Given the description of an element on the screen output the (x, y) to click on. 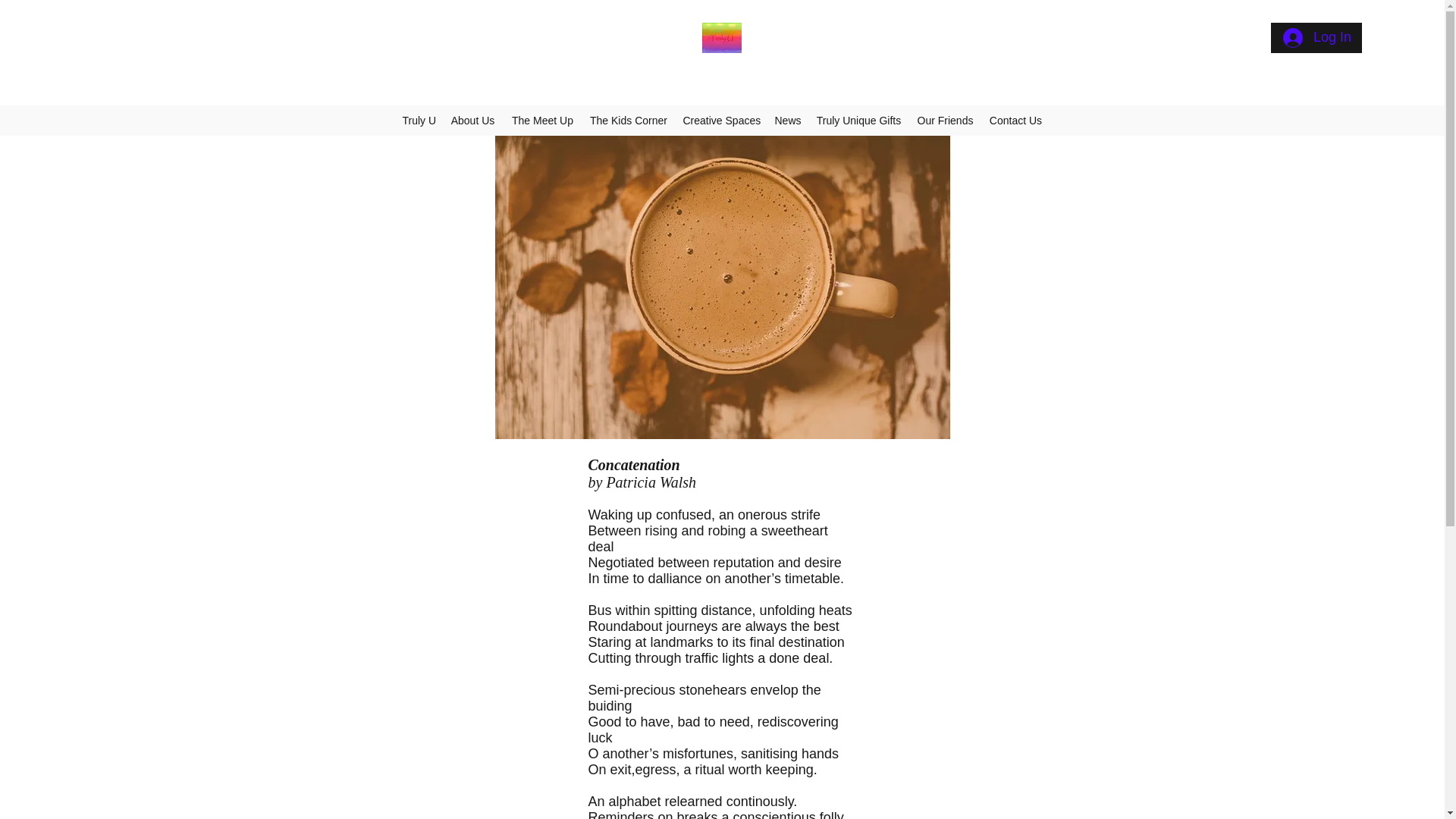
The Kids Corner (627, 119)
Truly Unique Gifts (858, 119)
The Meet Up (541, 119)
Contact Us (1015, 119)
Truly U (418, 119)
News (787, 119)
Our Friends (944, 119)
About Us (472, 119)
Creative Spaces (721, 119)
Log In (1316, 37)
